Given the description of an element on the screen output the (x, y) to click on. 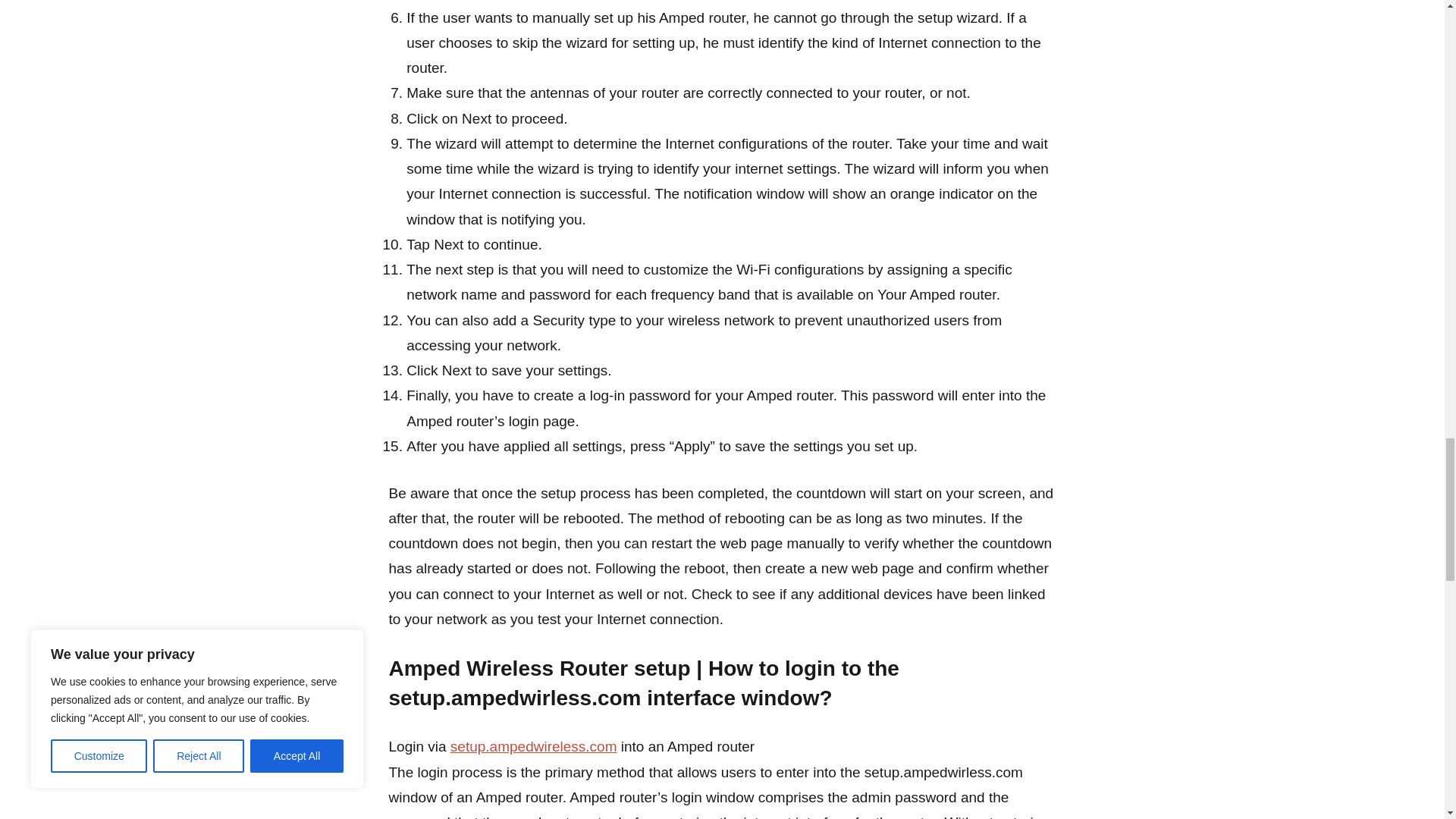
setup.ampedwireless.com (533, 746)
